Given the description of an element on the screen output the (x, y) to click on. 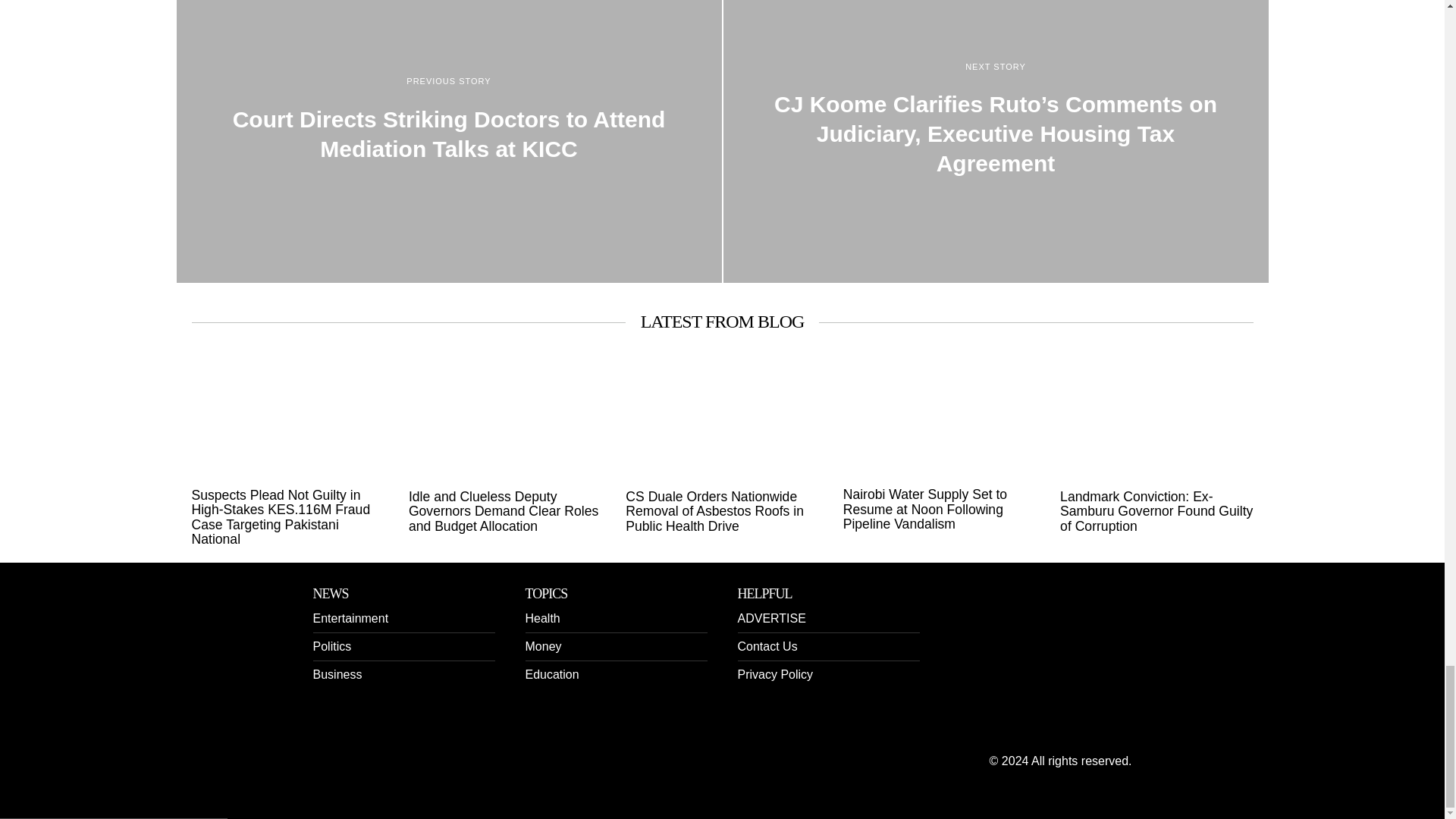
Health (541, 617)
Entertainment (350, 617)
Politics (331, 645)
Business (337, 674)
